Given the description of an element on the screen output the (x, y) to click on. 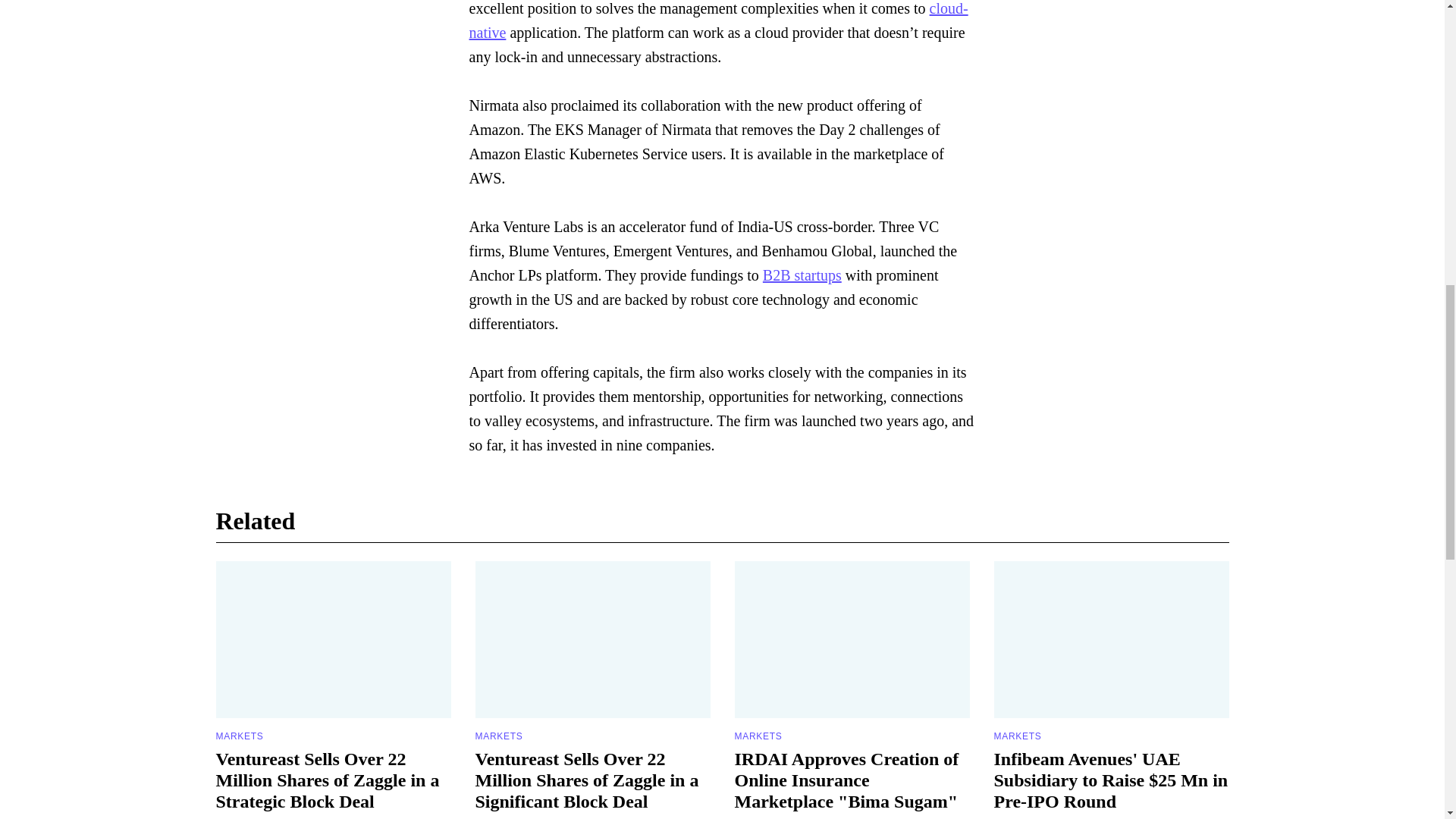
cloud-native (718, 20)
MARKETS (757, 736)
MARKETS (239, 736)
MARKETS (498, 736)
B2B startups (801, 274)
